Given the description of an element on the screen output the (x, y) to click on. 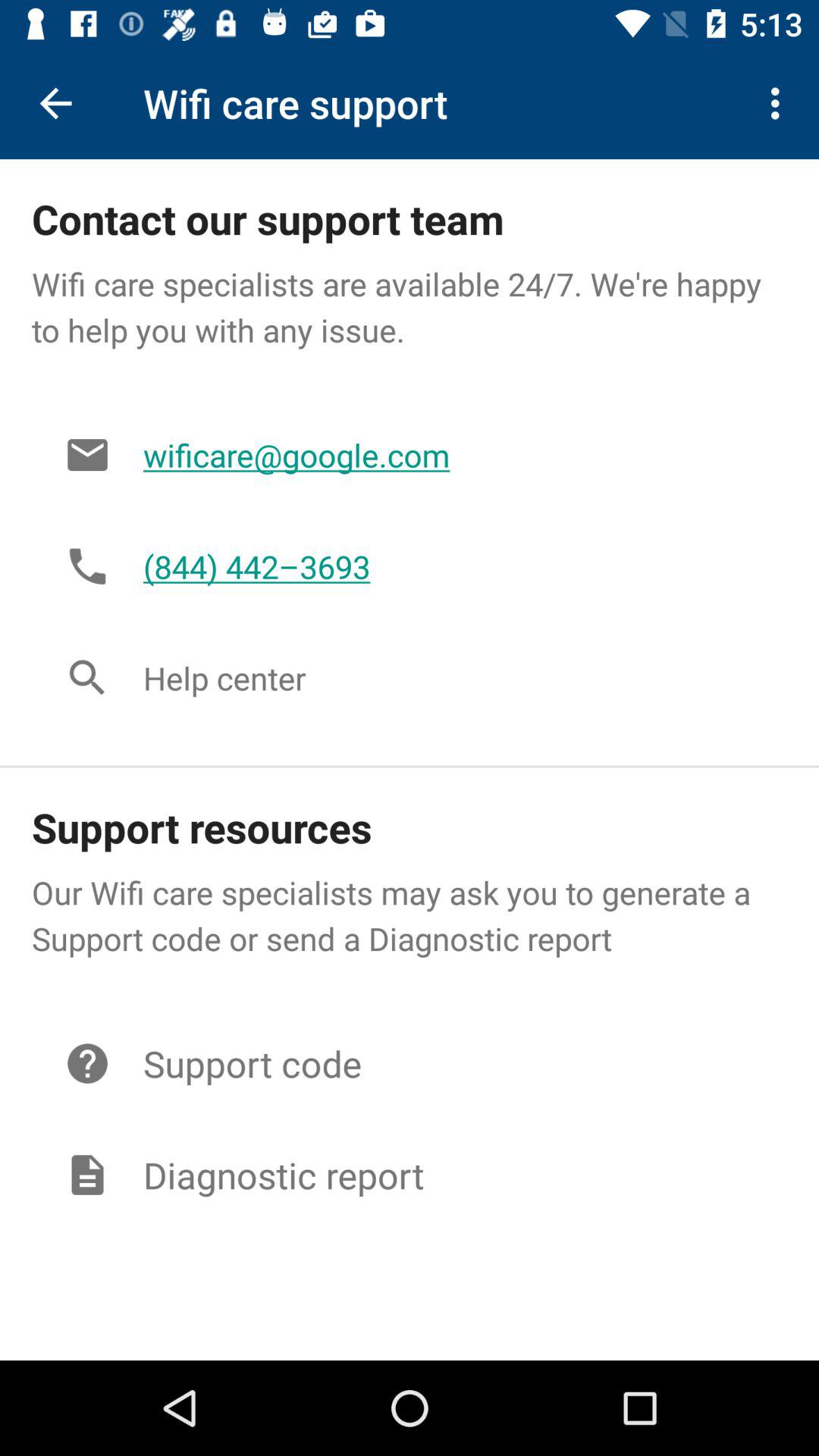
scroll to the wificare@google.com (449, 454)
